Given the description of an element on the screen output the (x, y) to click on. 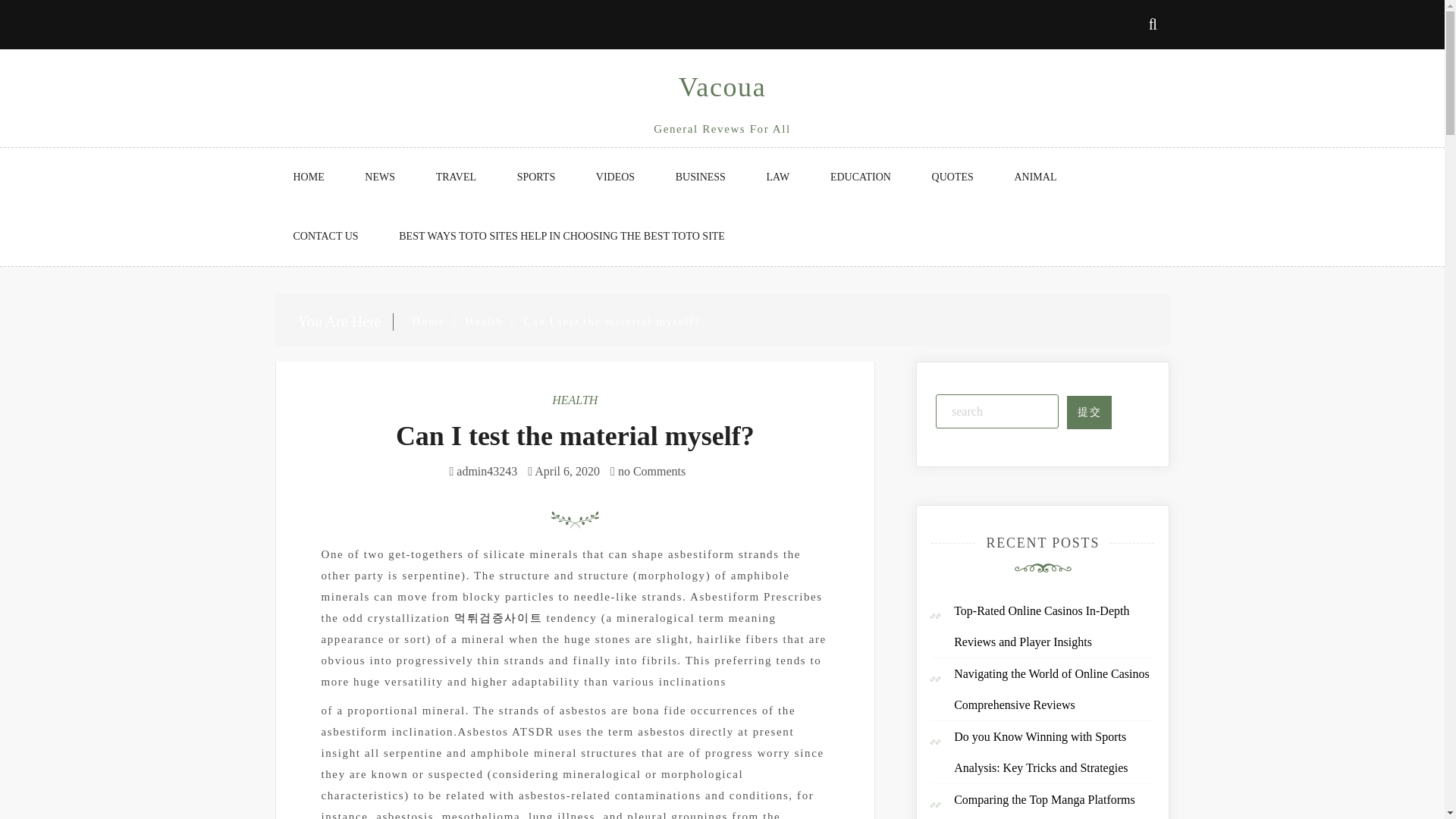
QUOTES (952, 177)
Can I test the material myself? (575, 435)
HEALTH (573, 399)
TRAVEL (456, 177)
SPORTS (536, 177)
VIDEOS (615, 177)
admin43243 (486, 471)
Navigating the World of Online Casinos Comprehensive Reviews (1051, 689)
Home (428, 321)
BEST WAYS TOTO SITES HELP IN CHOOSING THE BEST TOTO SITE (561, 236)
BUSINESS (701, 177)
Health (484, 321)
EDUCATION (860, 177)
Posts by admin43243 (486, 471)
